Given the description of an element on the screen output the (x, y) to click on. 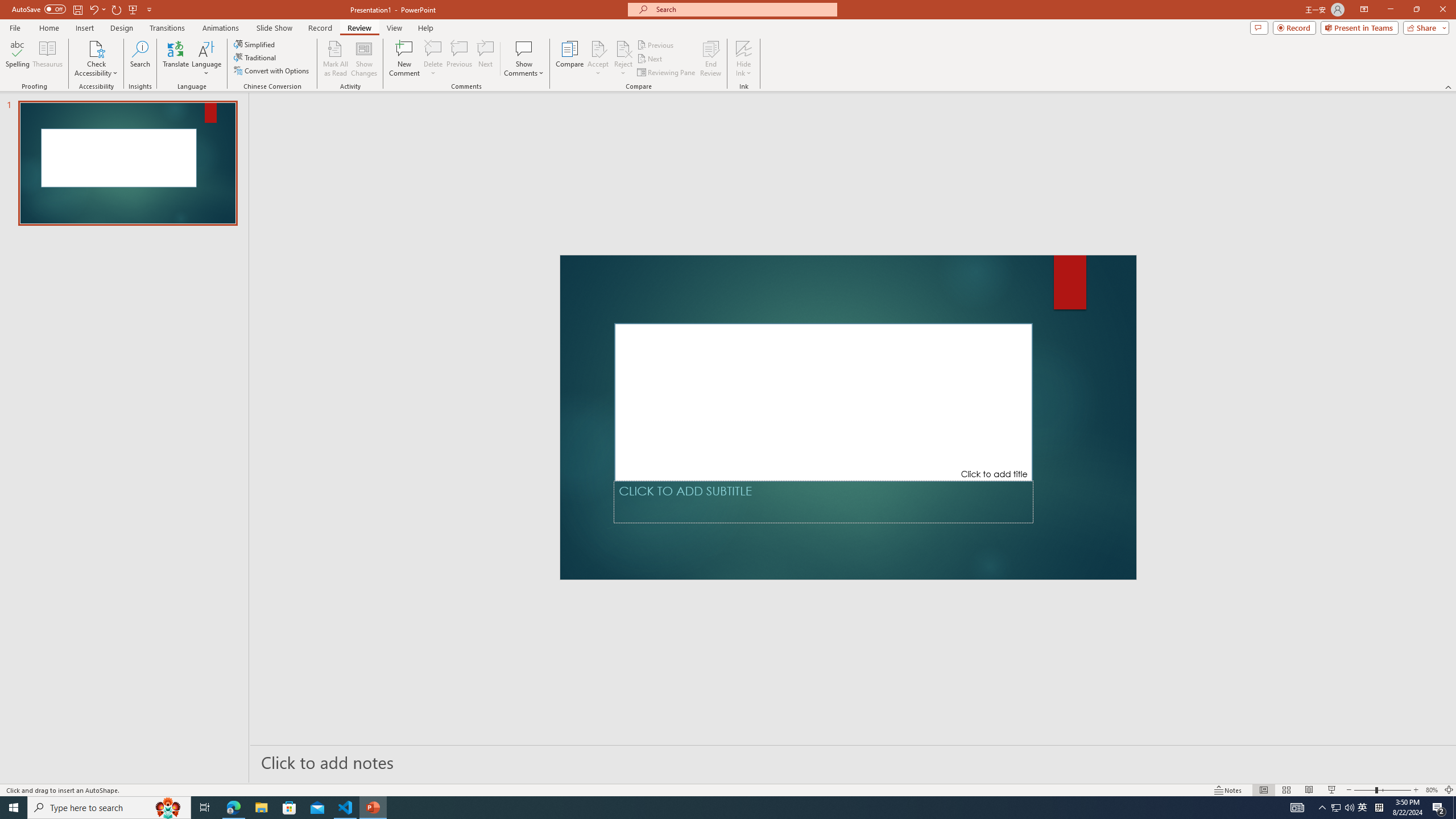
Next (649, 58)
Previous (655, 44)
End Review (710, 58)
Spelling... (17, 58)
